Given the description of an element on the screen output the (x, y) to click on. 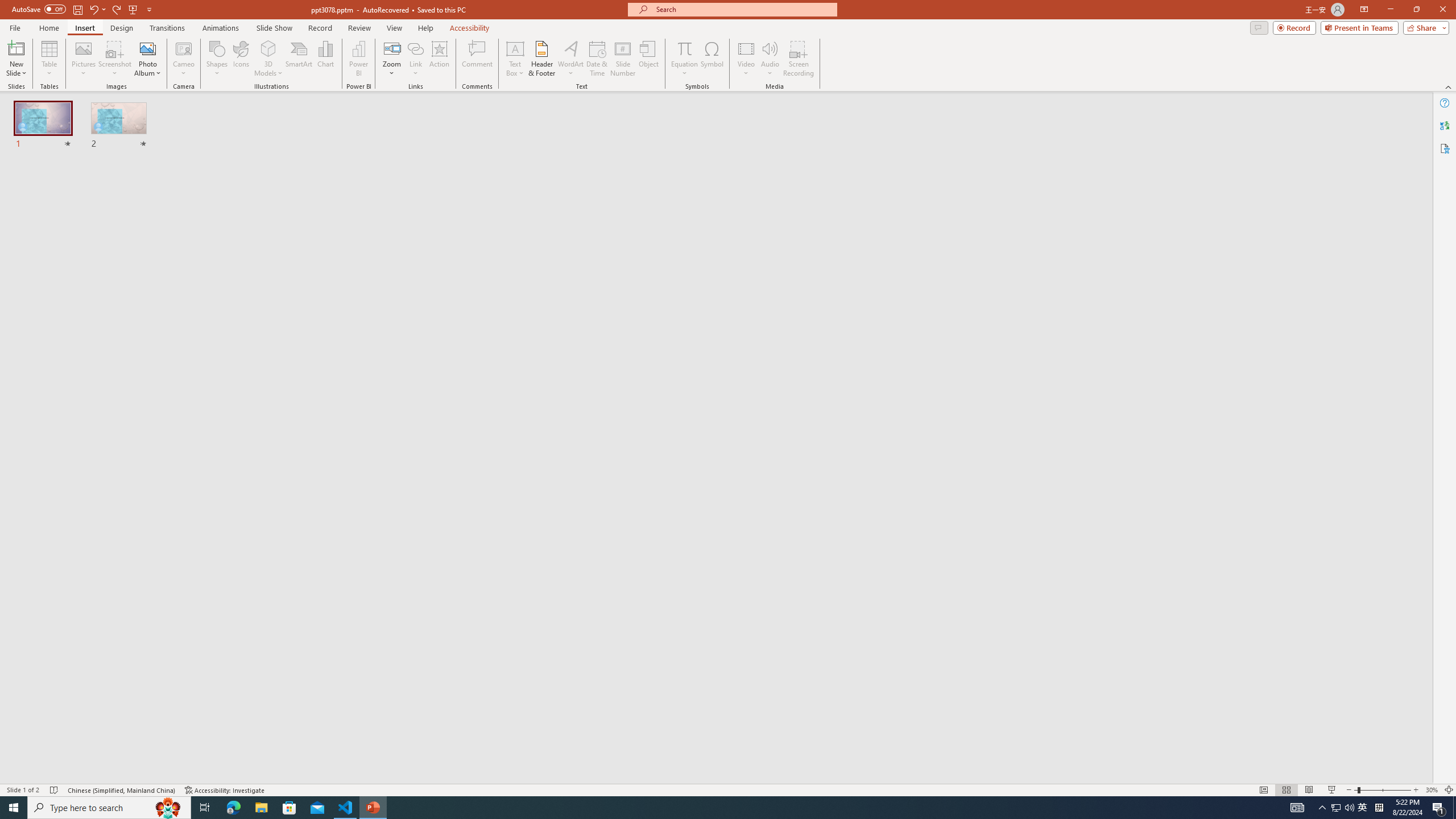
Translator (1444, 125)
Audio (769, 58)
Cameo (183, 48)
Class: MsoCommandBar (728, 789)
New Photo Album... (147, 48)
Power BI (358, 58)
